Given the description of an element on the screen output the (x, y) to click on. 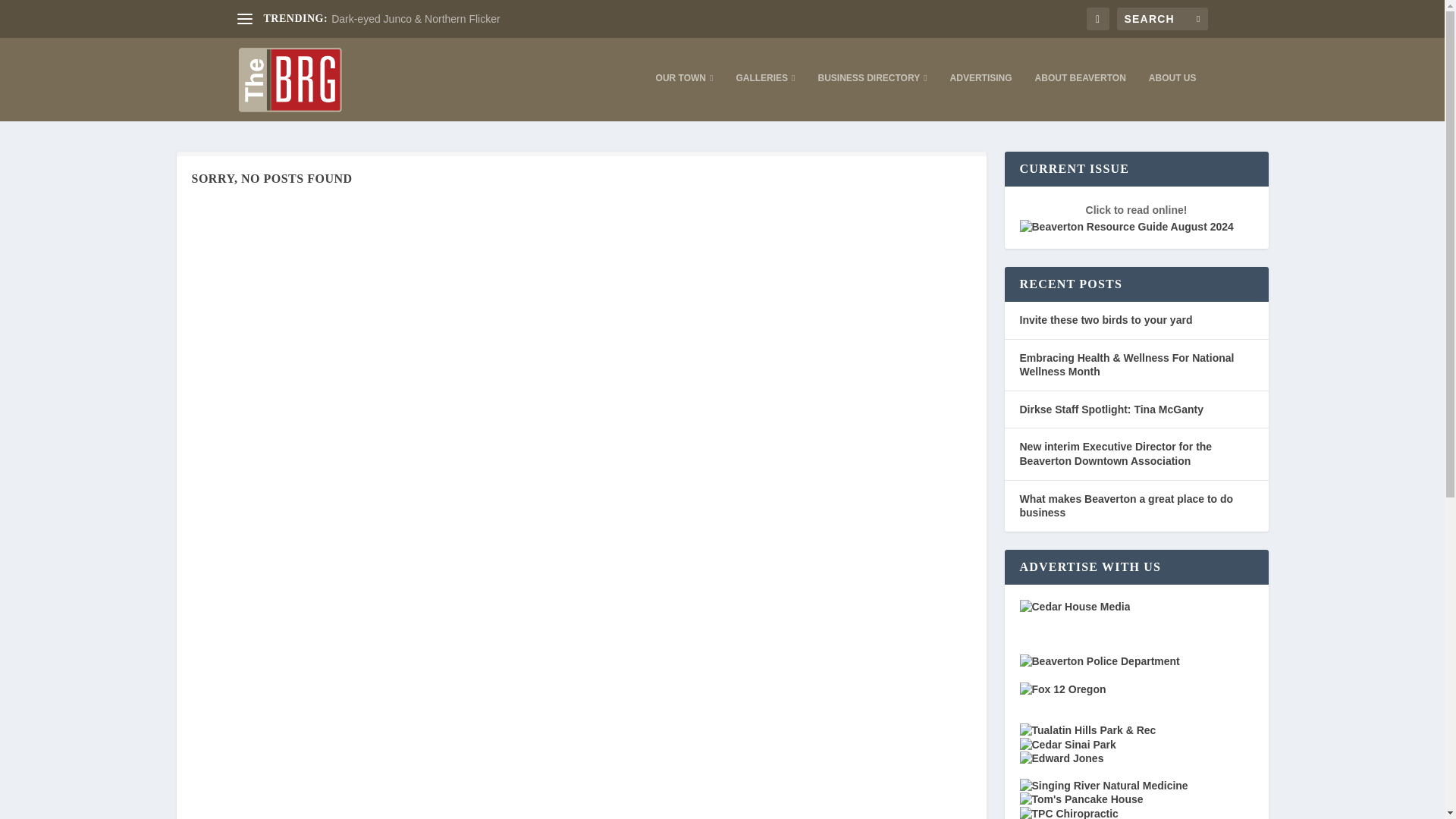
Search for: (1161, 18)
OUR TOWN (684, 96)
GALLERIES (764, 96)
